Given the description of an element on the screen output the (x, y) to click on. 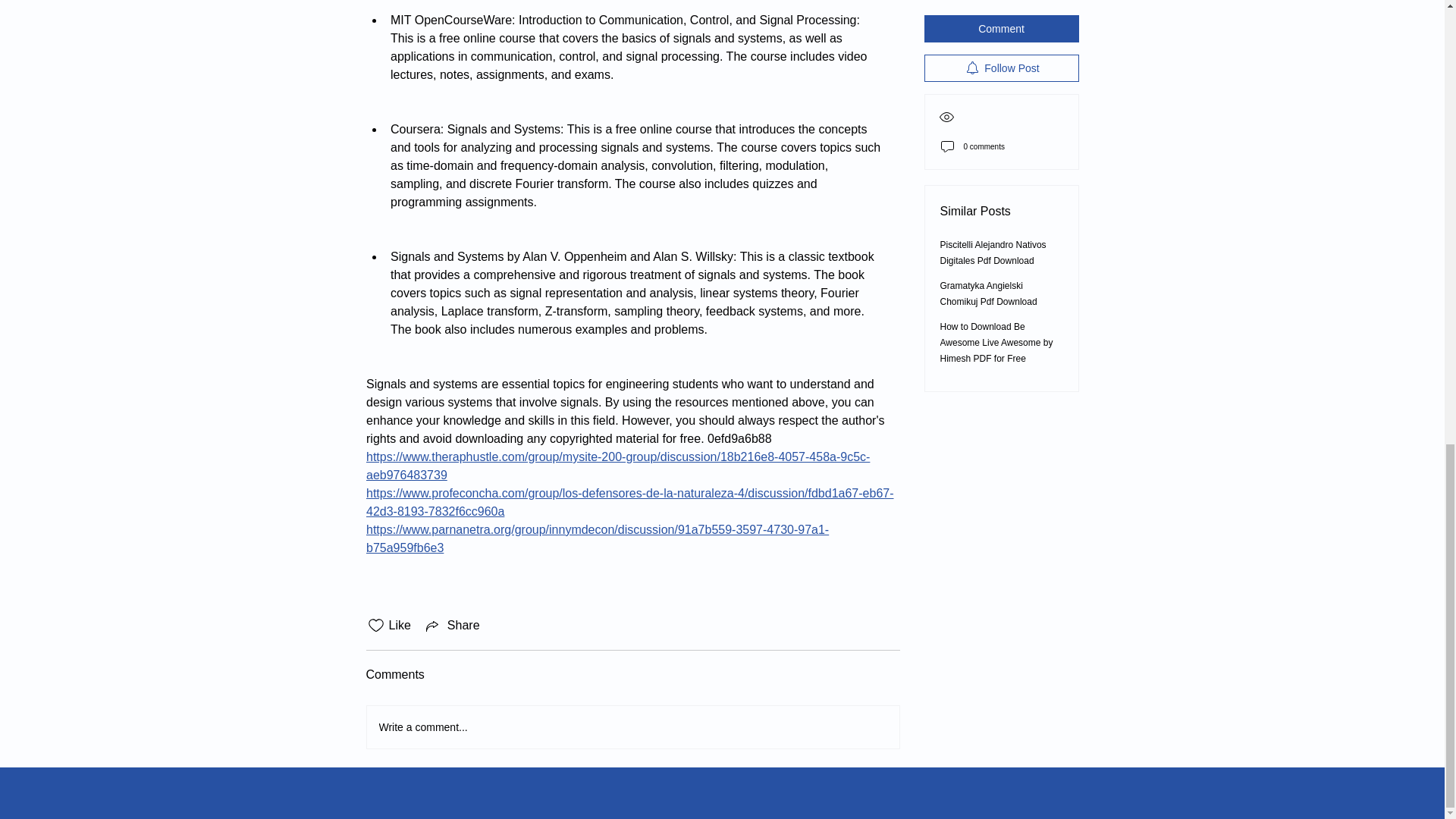
Share (451, 625)
Write a comment... (632, 726)
